Given the description of an element on the screen output the (x, y) to click on. 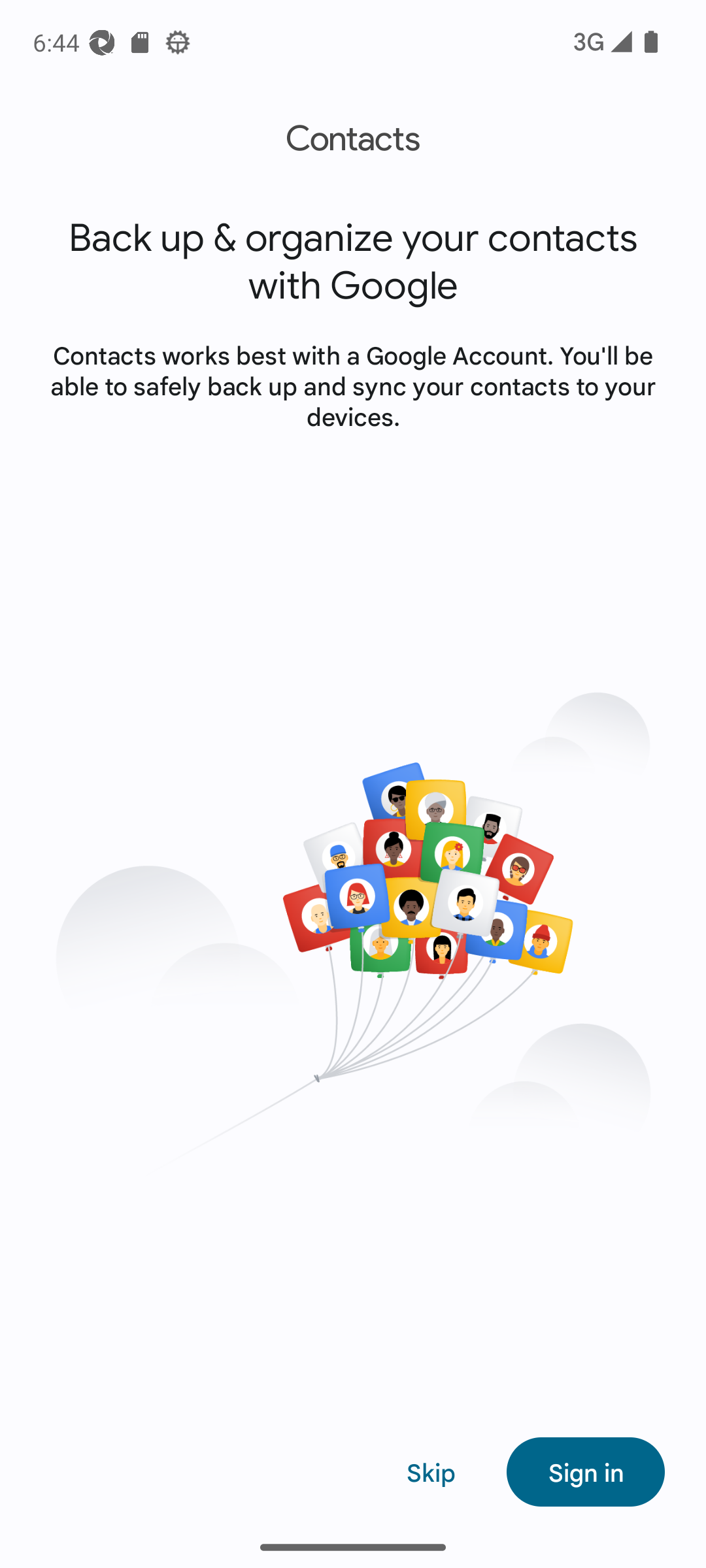
Skip (430, 1471)
Sign in (585, 1471)
